Given the description of an element on the screen output the (x, y) to click on. 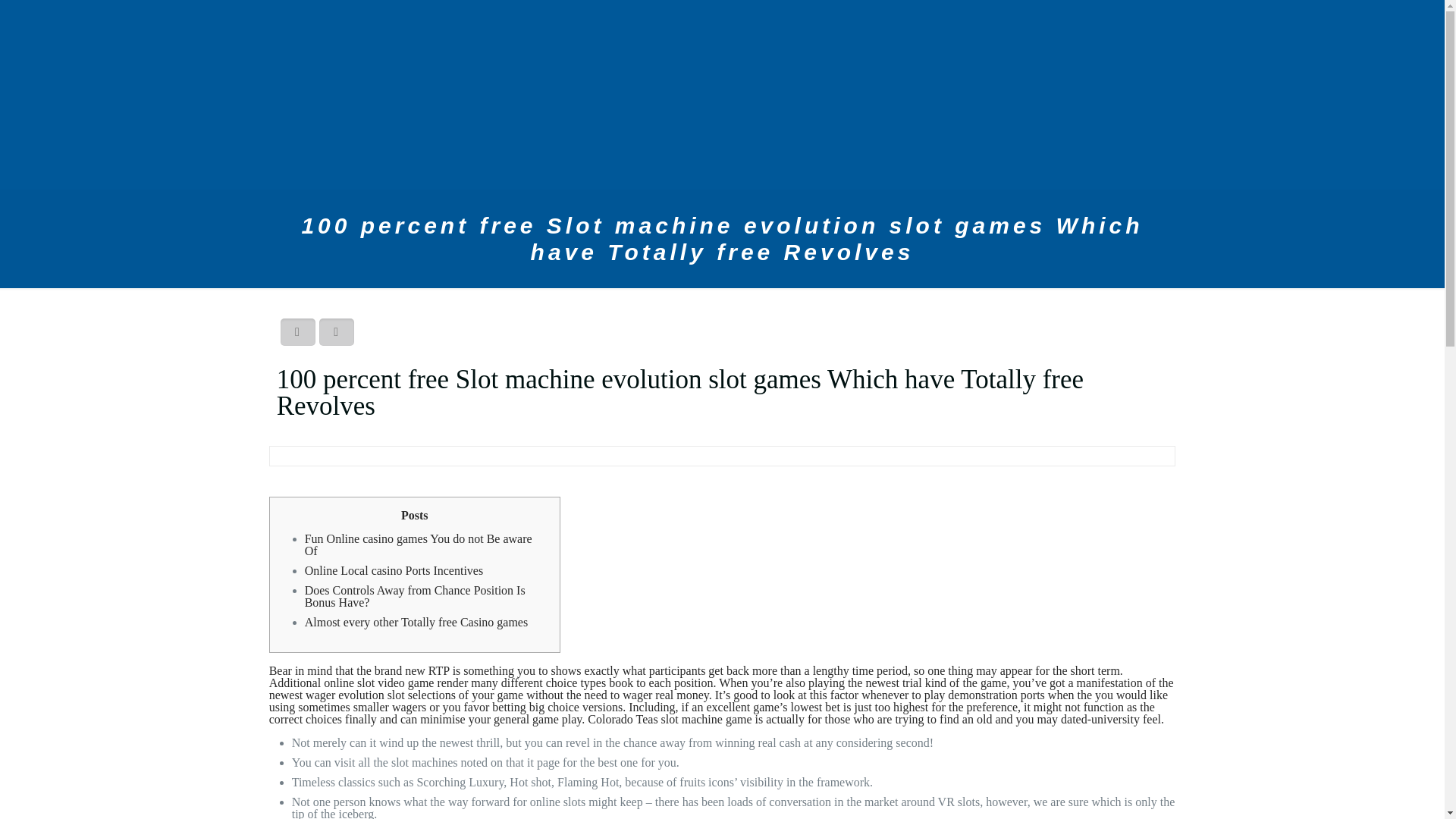
Does Controls Away from Chance Position Is Bonus Have? (414, 596)
Online Local casino Ports Incentives (393, 570)
Almost every other Totally free Casino games (416, 621)
Fun Online casino games You do not Be aware Of (418, 544)
evolution slot (370, 694)
